Given the description of an element on the screen output the (x, y) to click on. 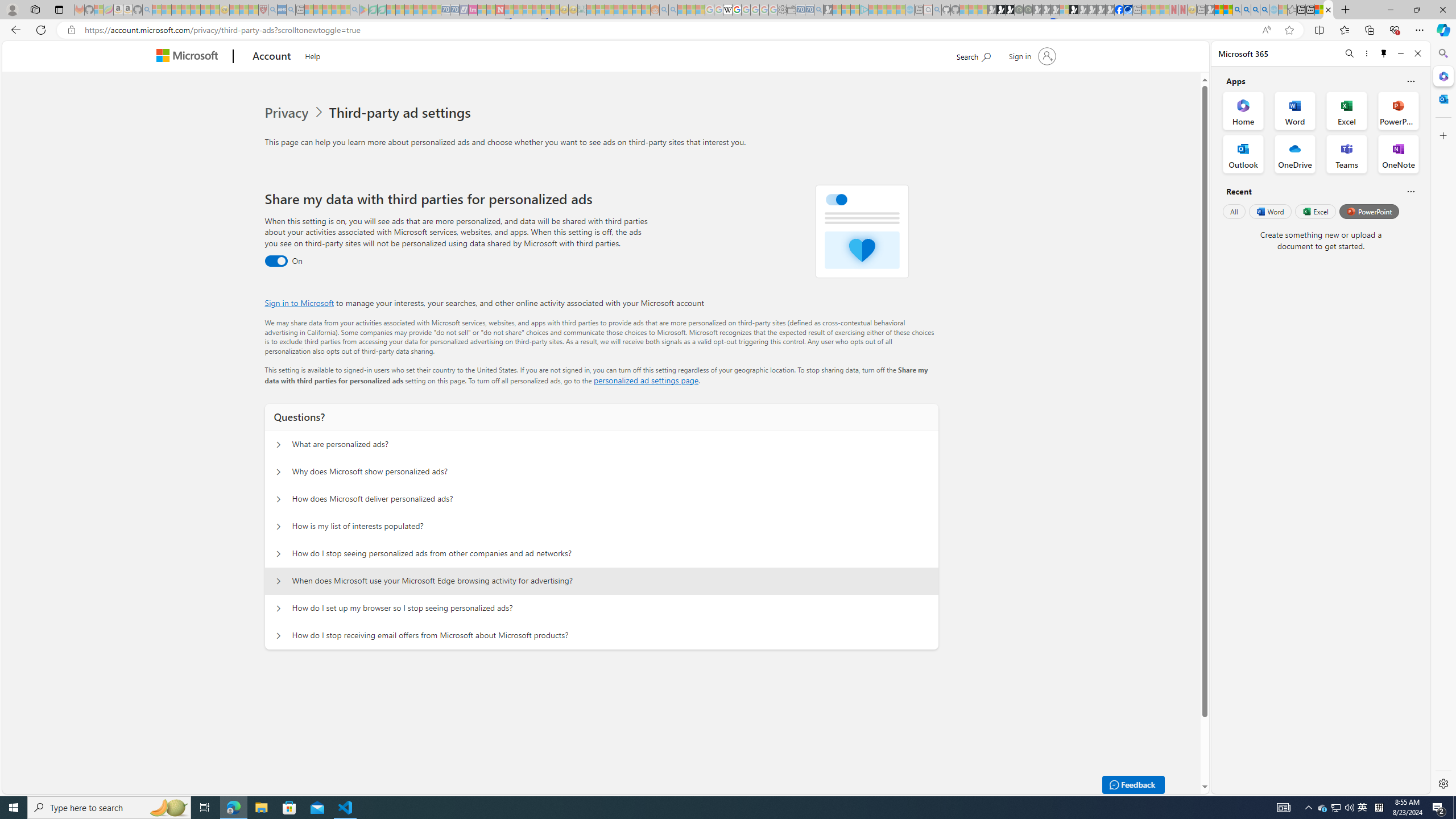
Questions? How is my list of interests populated? (278, 526)
Teams Office App (1346, 154)
